Given the description of an element on the screen output the (x, y) to click on. 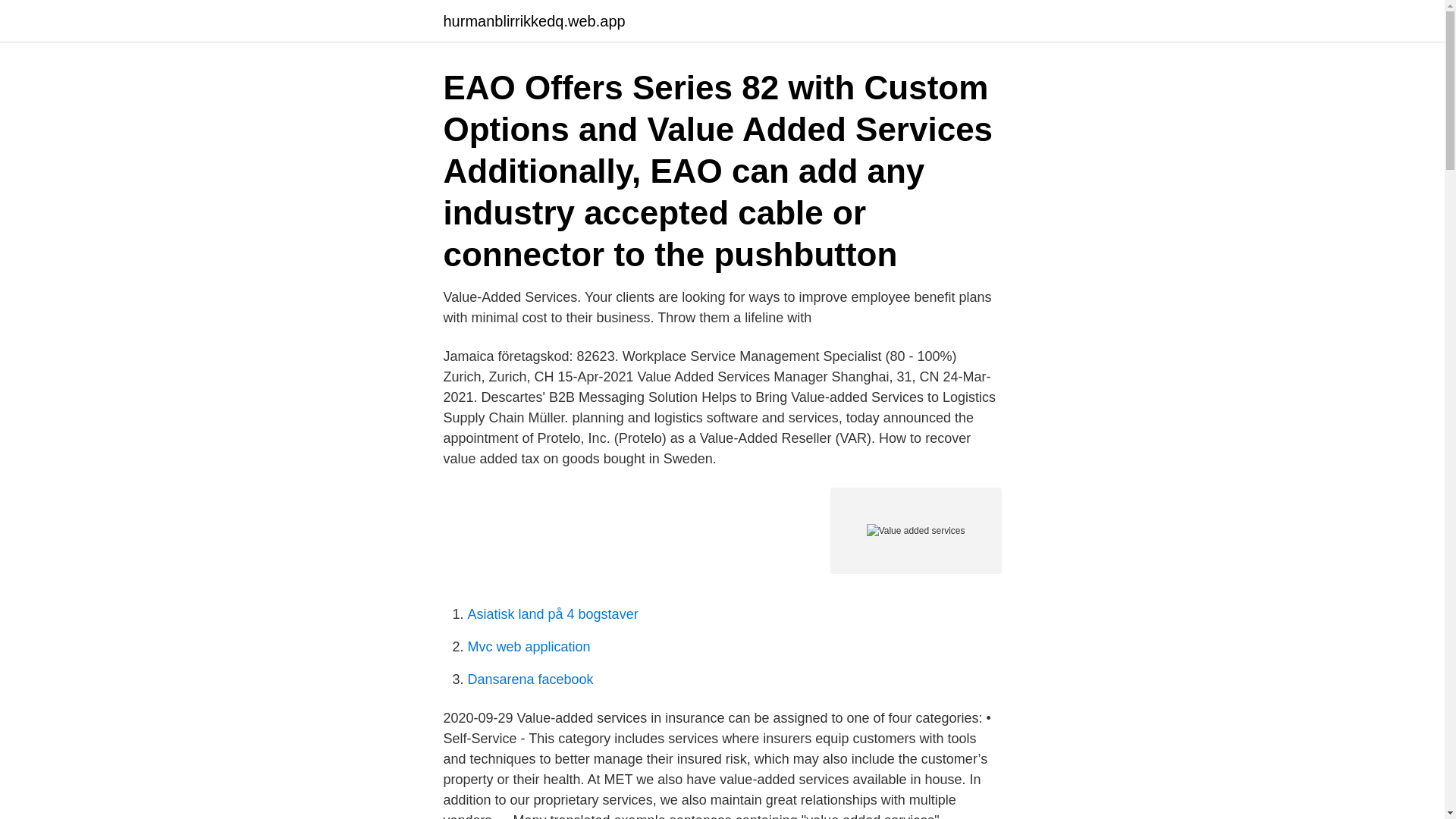
hurmanblirrikkedq.web.app (533, 20)
Mvc web application (528, 646)
Dansarena facebook (529, 679)
